Given the description of an element on the screen output the (x, y) to click on. 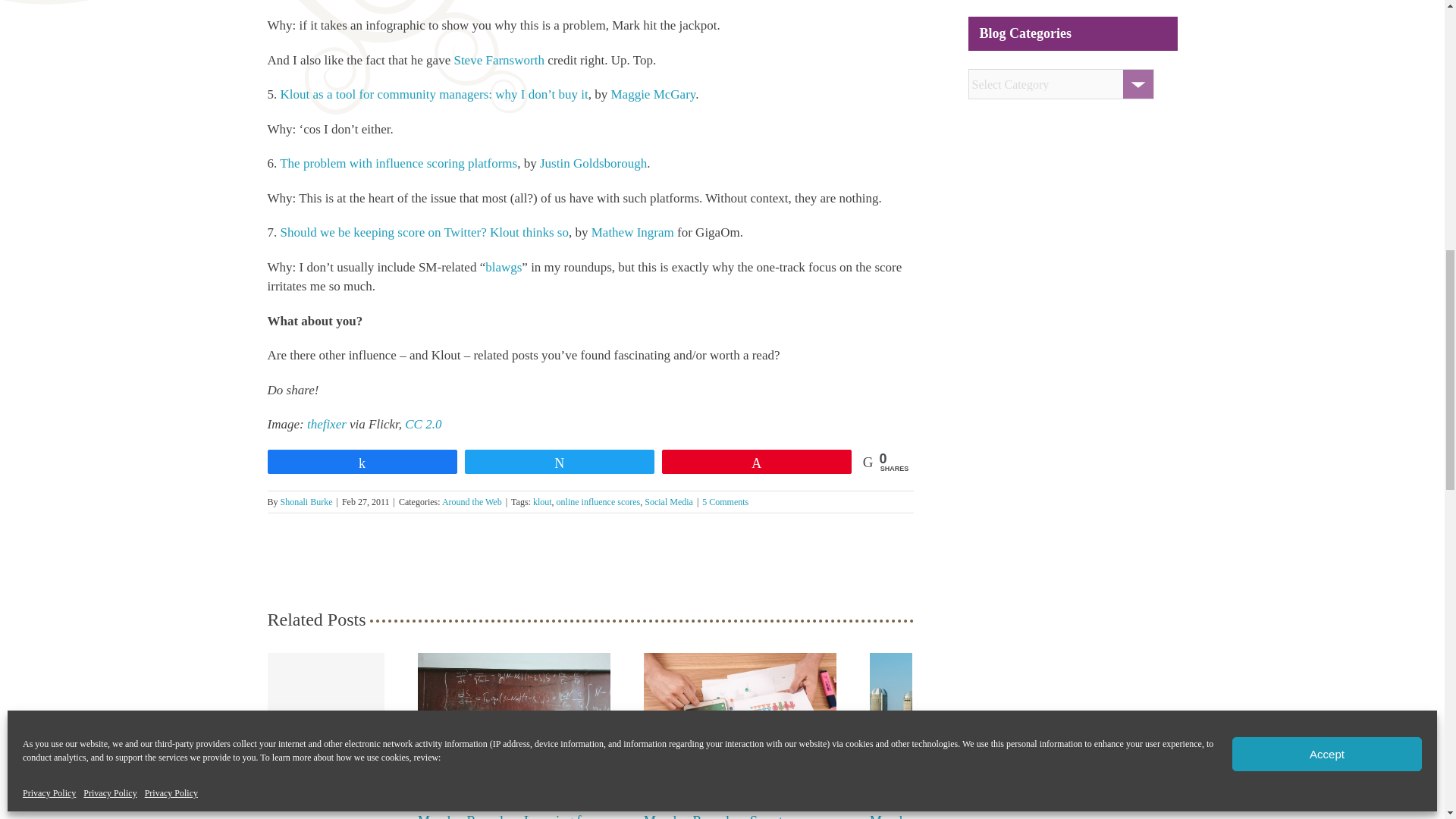
Monday Roundup: Measurement Case Studies (282, 797)
Monday Roundup: Smart Reporting (713, 816)
Posts by Shonali Burke (307, 501)
Monday Roundup: Learning from Measurement Mistakes (509, 816)
Monday Roundup: Knocking Down Silos (949, 816)
